Given the description of an element on the screen output the (x, y) to click on. 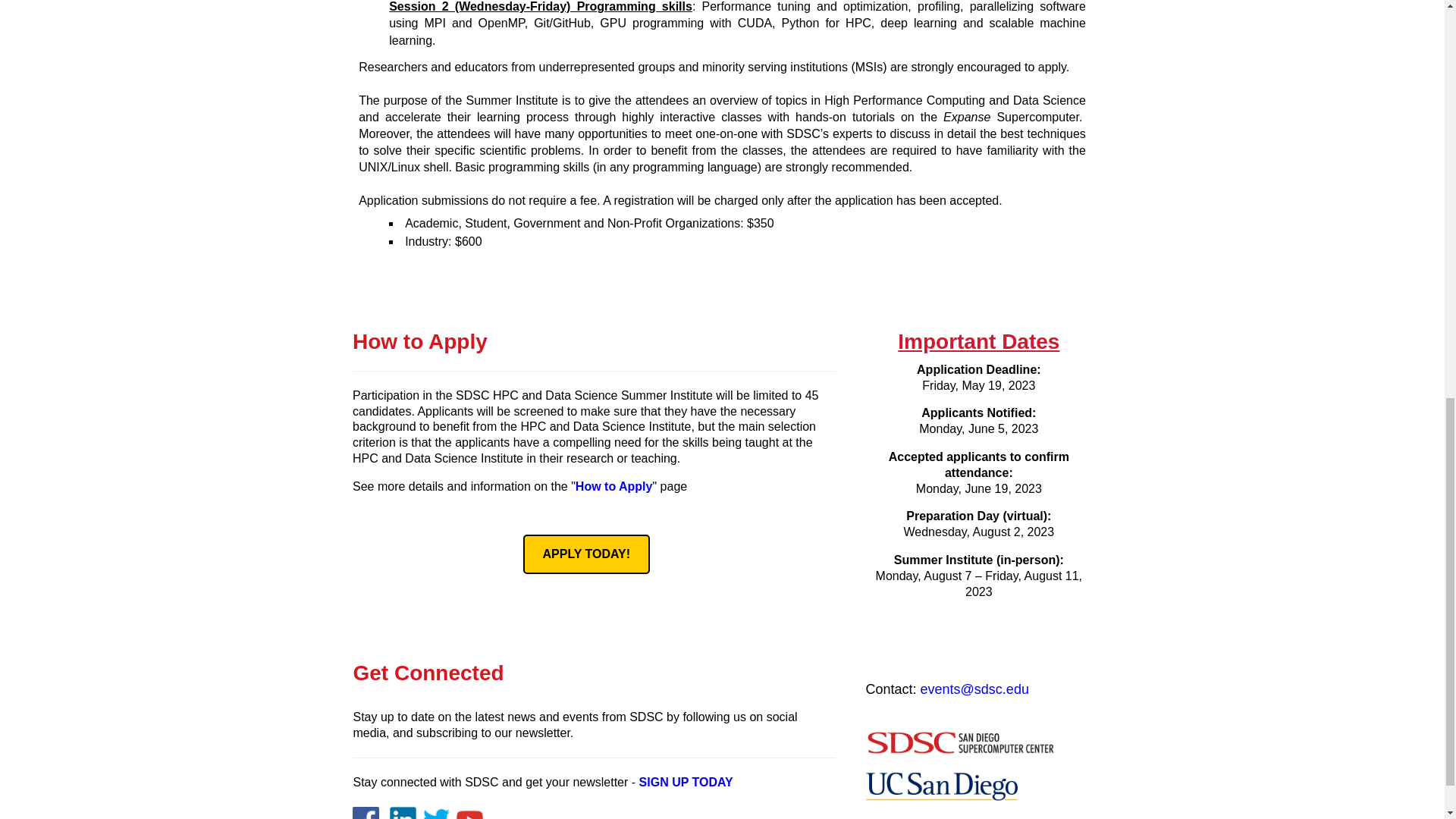
SIGN UP TODAY (686, 781)
How to Apply (613, 486)
APPLY TODAY! (586, 554)
